Given the description of an element on the screen output the (x, y) to click on. 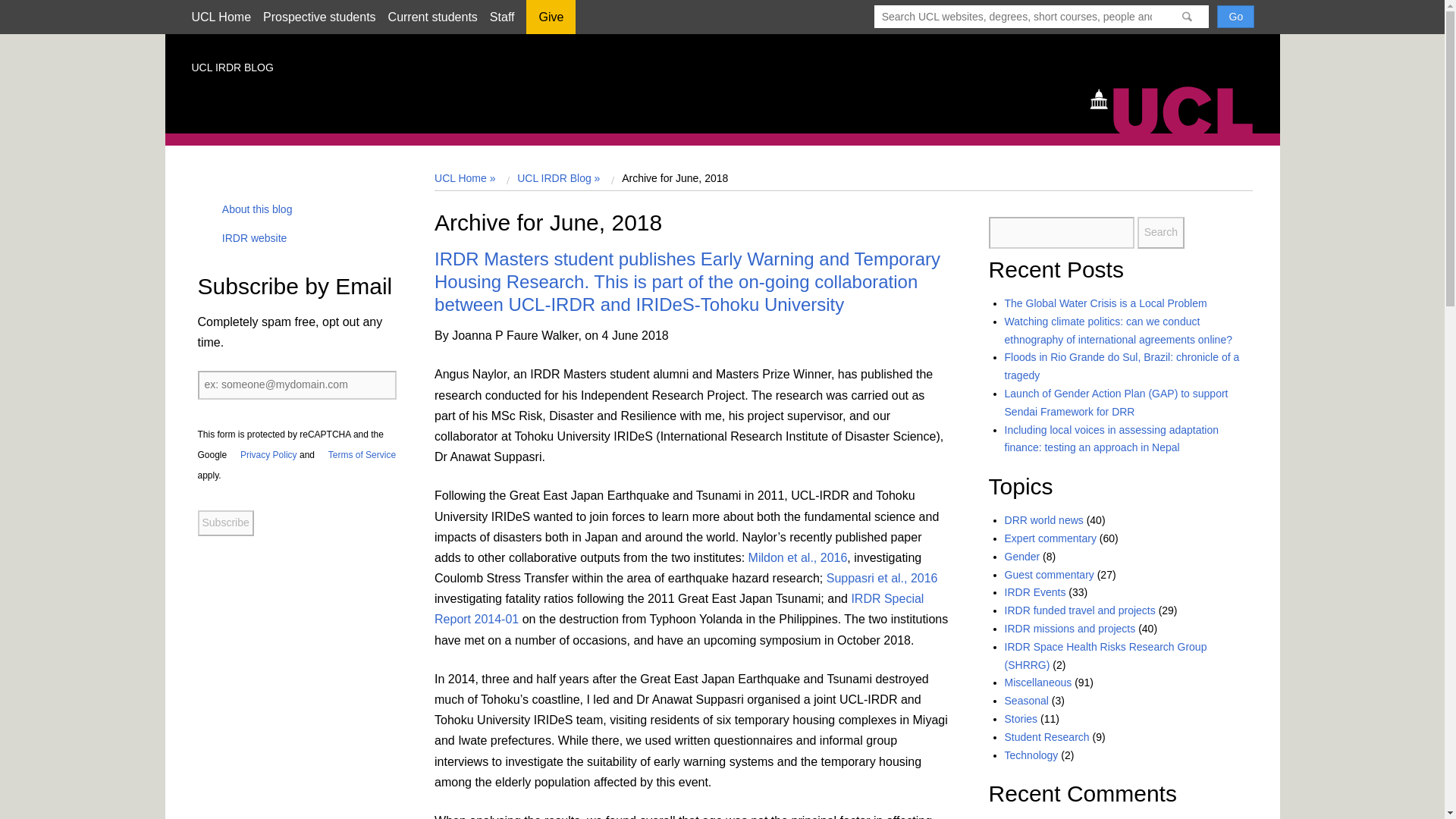
Subscribe (224, 523)
Current students (432, 16)
Privacy Policy (263, 454)
Staff (502, 16)
Go (1235, 15)
UCL Home (220, 16)
IRDR website (249, 237)
Prospective students (319, 16)
Search (1161, 232)
Home (1178, 108)
Mildon et al., 2016 (797, 557)
Terms of Service (356, 454)
Give (550, 22)
